Given the description of an element on the screen output the (x, y) to click on. 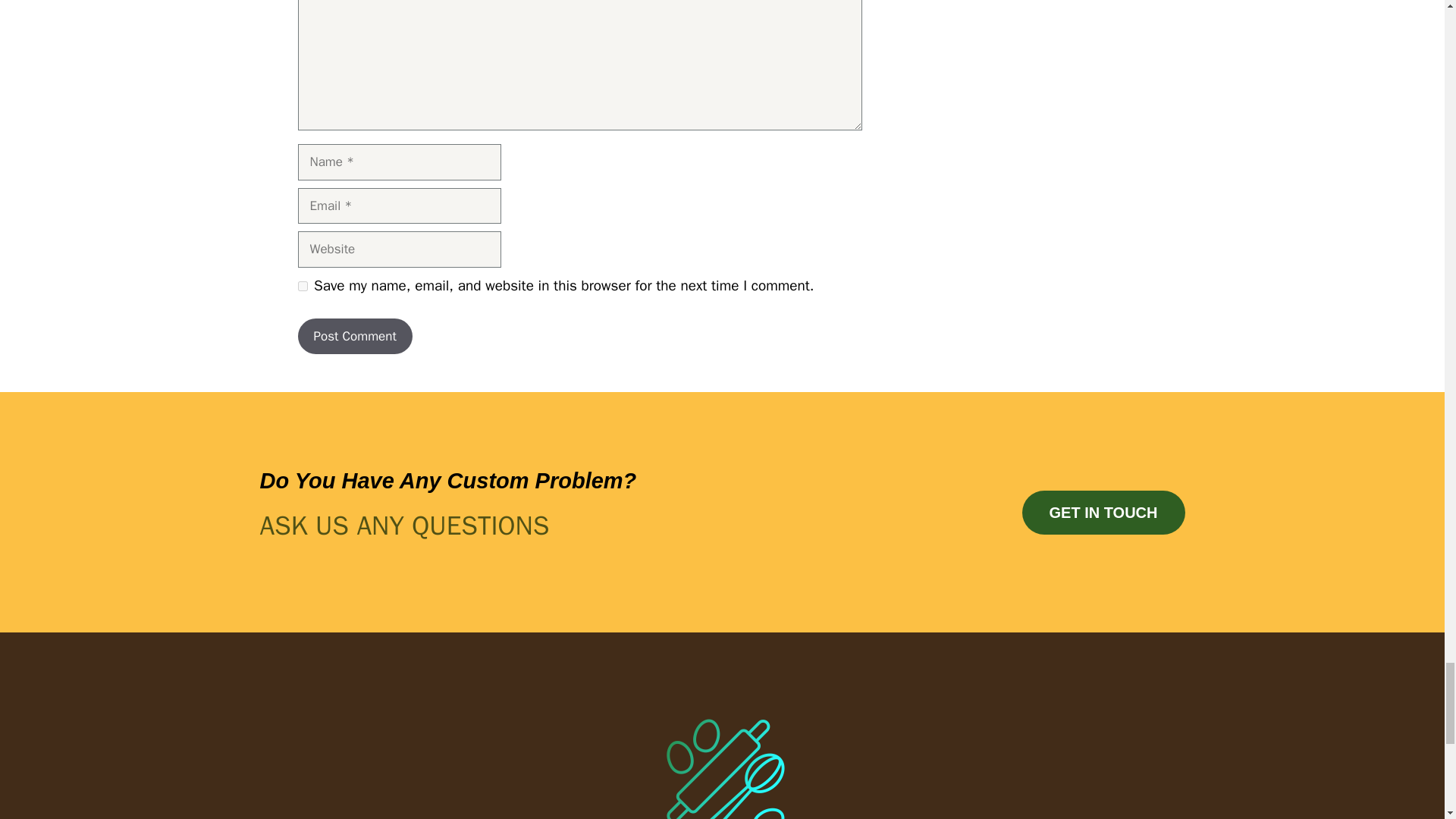
yes (302, 285)
Post Comment (354, 336)
Post Comment (354, 336)
